Given the description of an element on the screen output the (x, y) to click on. 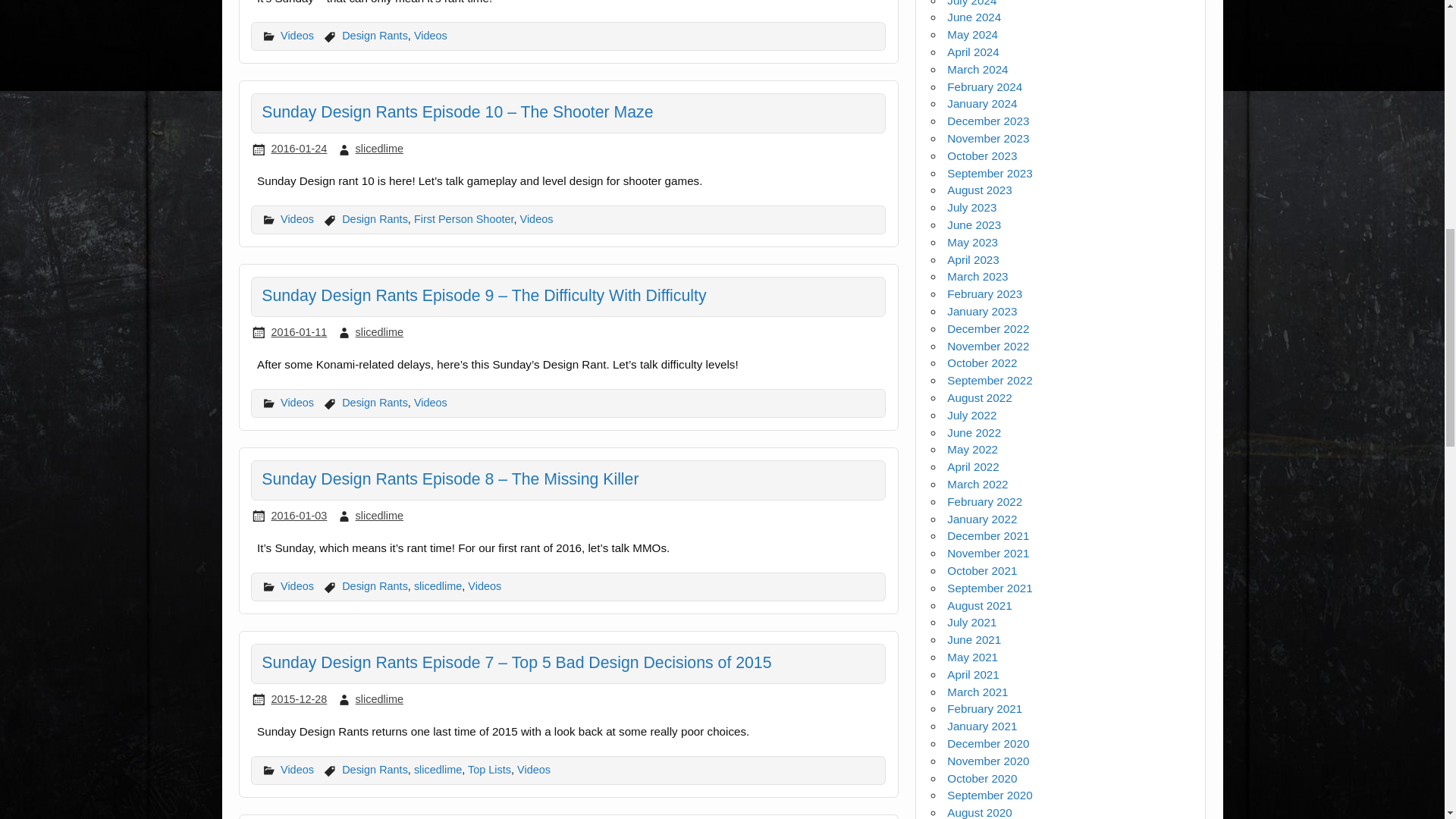
01:26 (298, 331)
View all posts by slicedlime (379, 331)
Videos (297, 218)
18:46 (298, 148)
First Person Shooter (463, 218)
2016-01-24 (298, 148)
View all posts by slicedlime (379, 515)
Videos (429, 35)
Videos (297, 35)
slicedlime (379, 148)
